Given the description of an element on the screen output the (x, y) to click on. 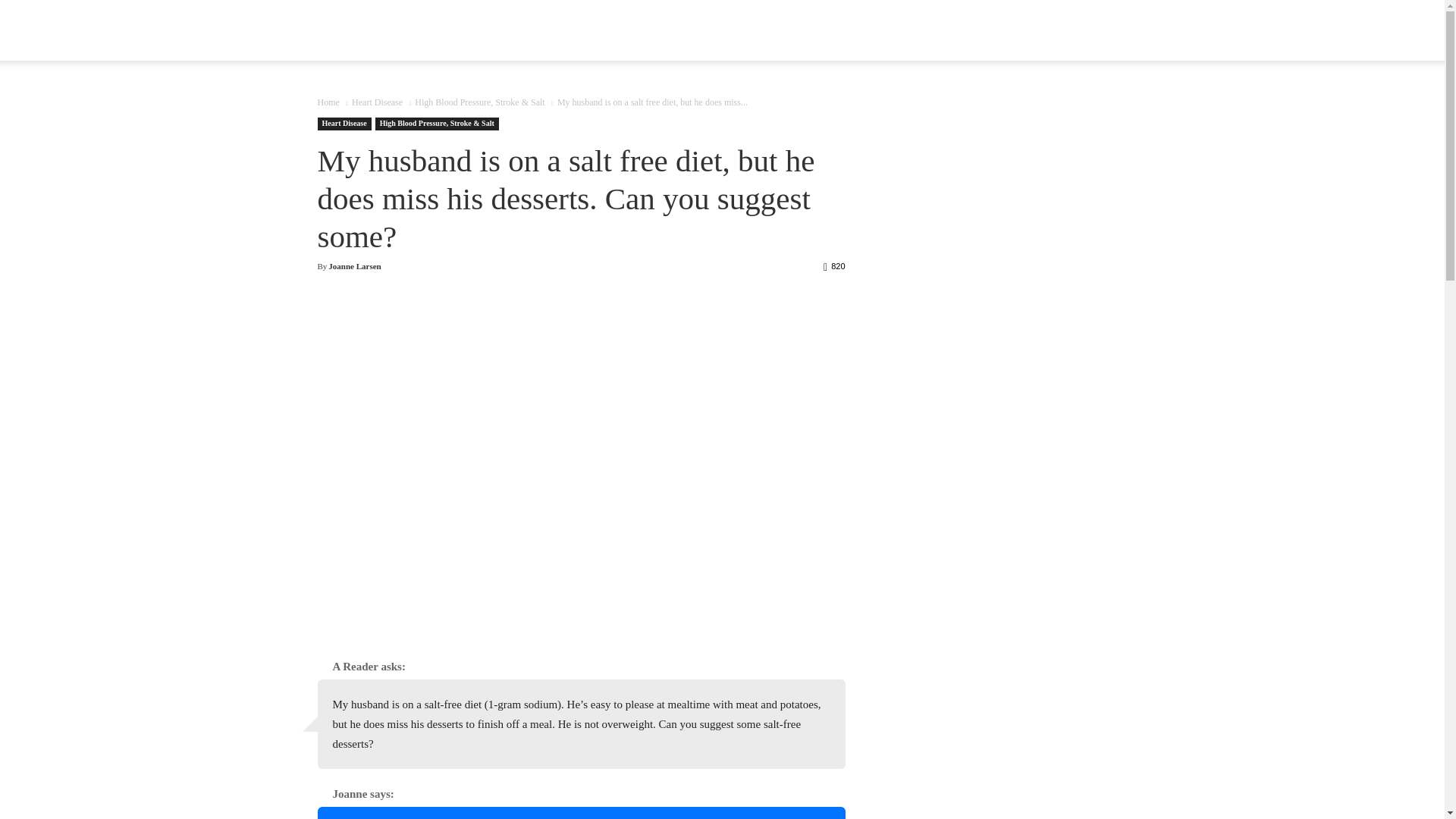
View all posts in Heart Disease (377, 102)
